Given the description of an element on the screen output the (x, y) to click on. 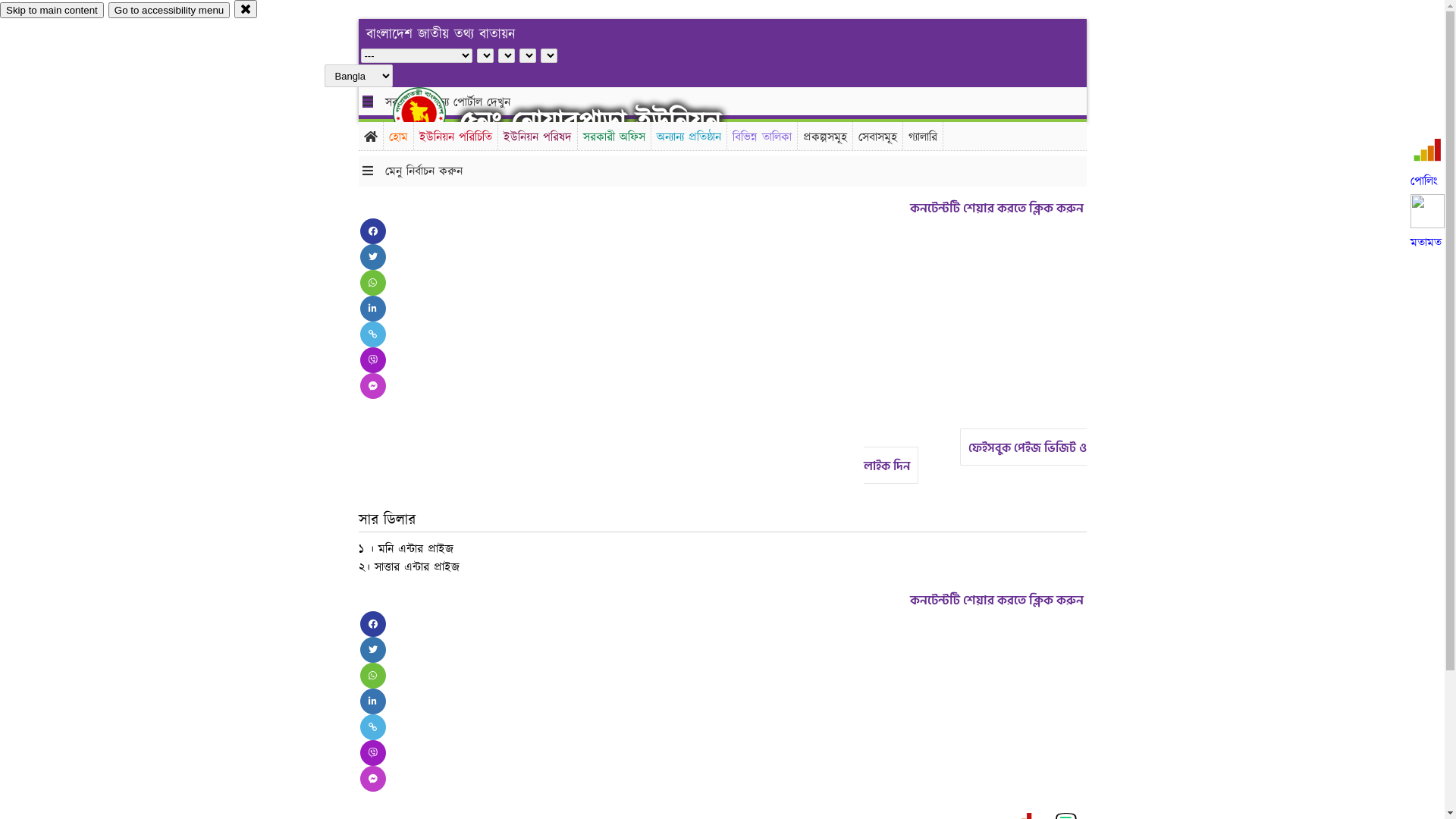
Go to accessibility menu Element type: text (168, 10)
close Element type: hover (245, 9)

                
             Element type: hover (431, 112)
Skip to main content Element type: text (51, 10)
